Given the description of an element on the screen output the (x, y) to click on. 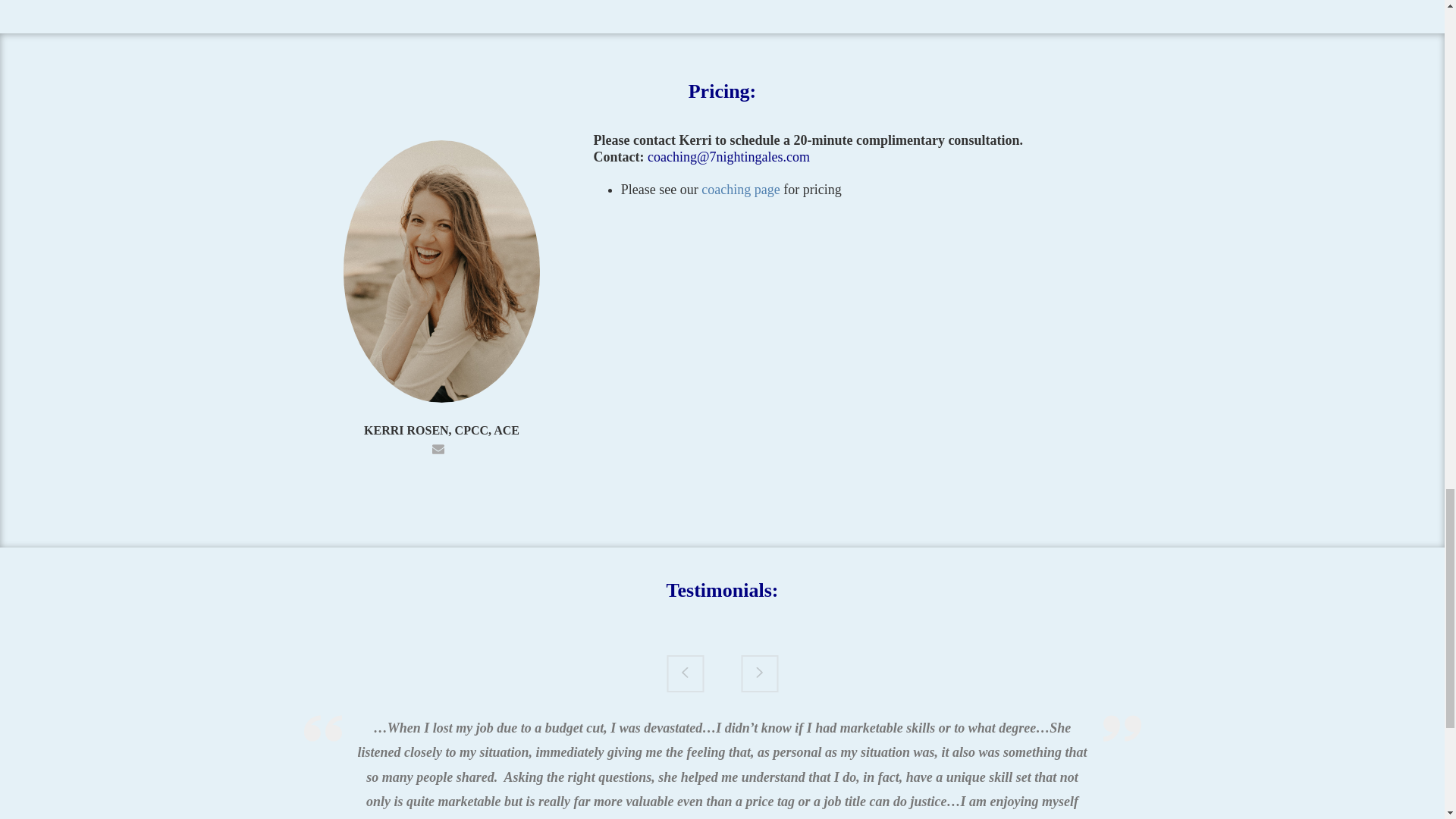
Get In Touch With Kerri Rosen, CPCC, ACE (438, 447)
Kerri Rosen, CPCC, ACE (441, 271)
coaching page (739, 189)
